Given the description of an element on the screen output the (x, y) to click on. 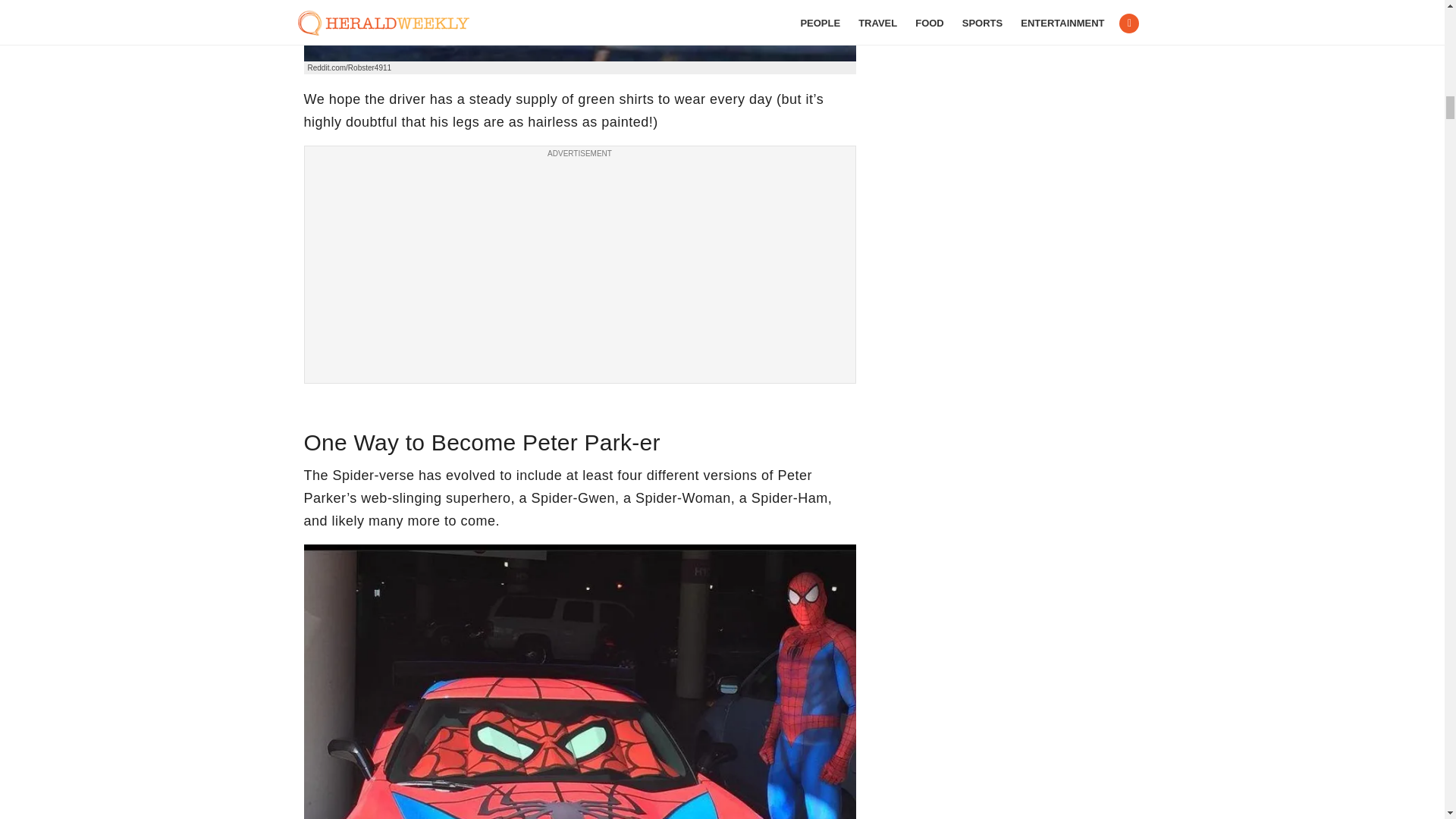
Butt Wait! (579, 30)
